Given the description of an element on the screen output the (x, y) to click on. 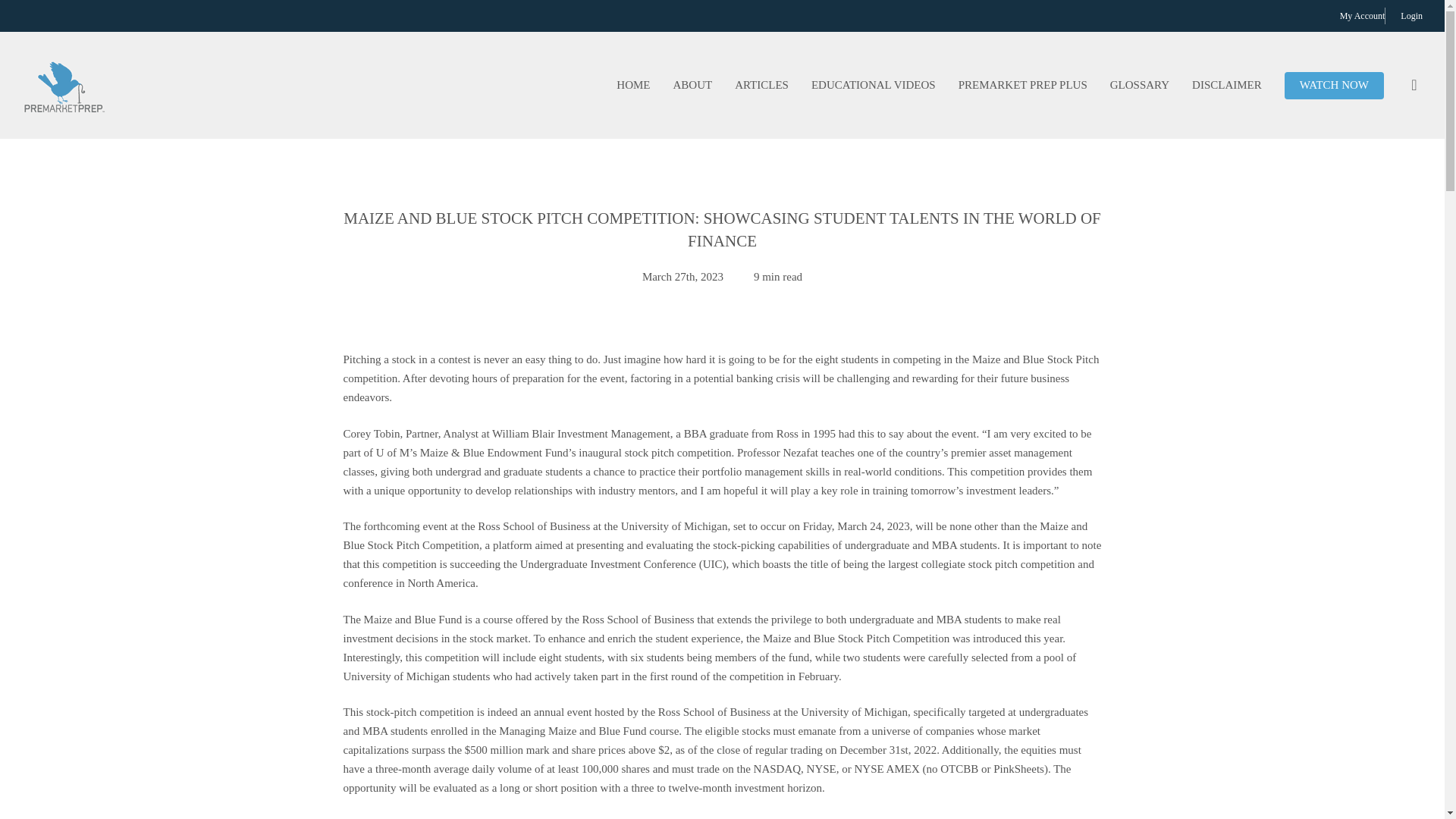
GLOSSARY (1139, 85)
DISCLAIMER (1226, 85)
ABOUT (692, 85)
EDUCATIONAL VIDEOS (873, 85)
WATCH NOW (1334, 85)
Login (1411, 15)
search (1414, 84)
My Account (1362, 15)
PREMARKET PREP PLUS (1023, 85)
HOME (633, 85)
ARTICLES (761, 85)
